Given the description of an element on the screen output the (x, y) to click on. 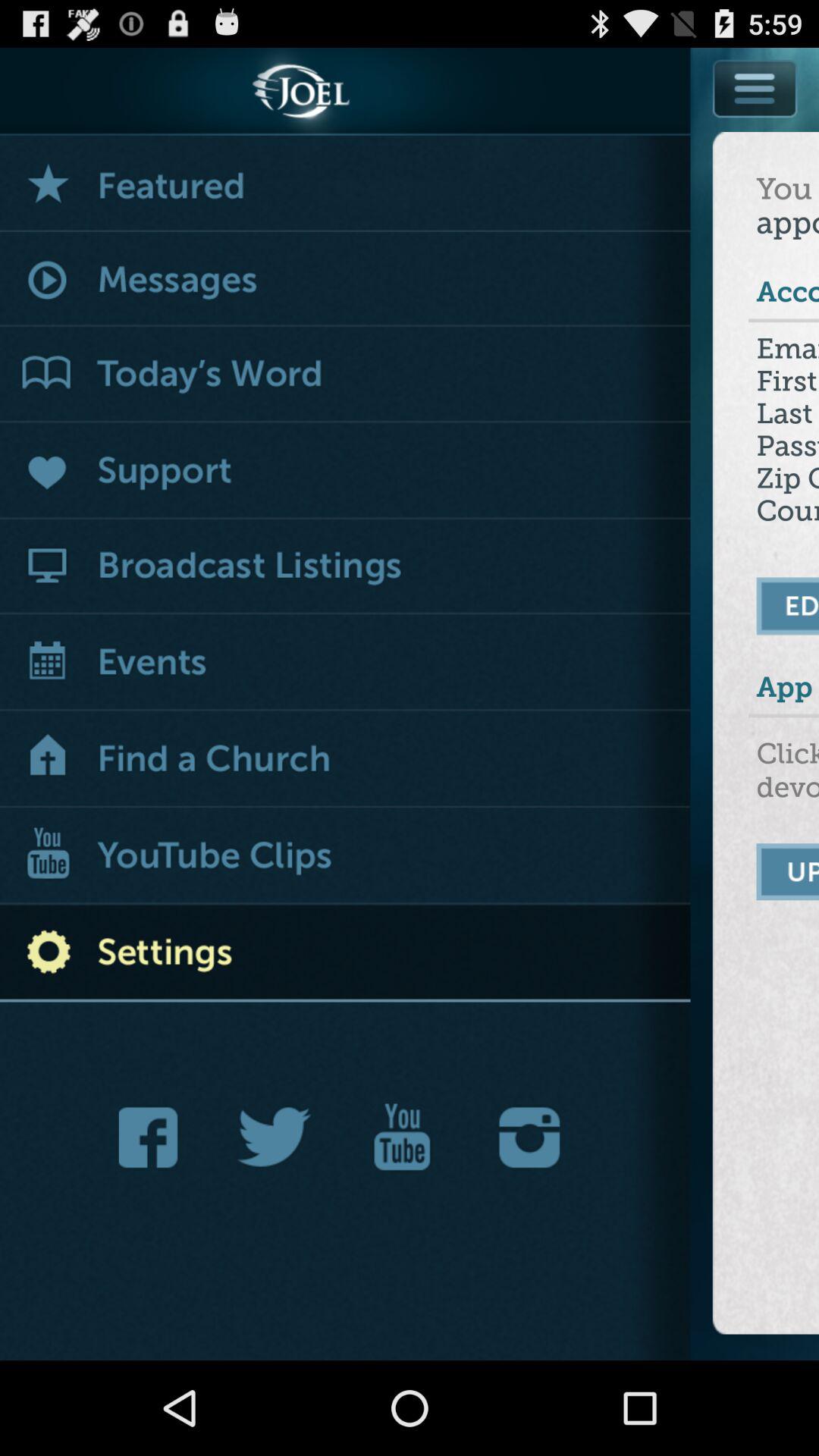
go to youtube (401, 1137)
